Given the description of an element on the screen output the (x, y) to click on. 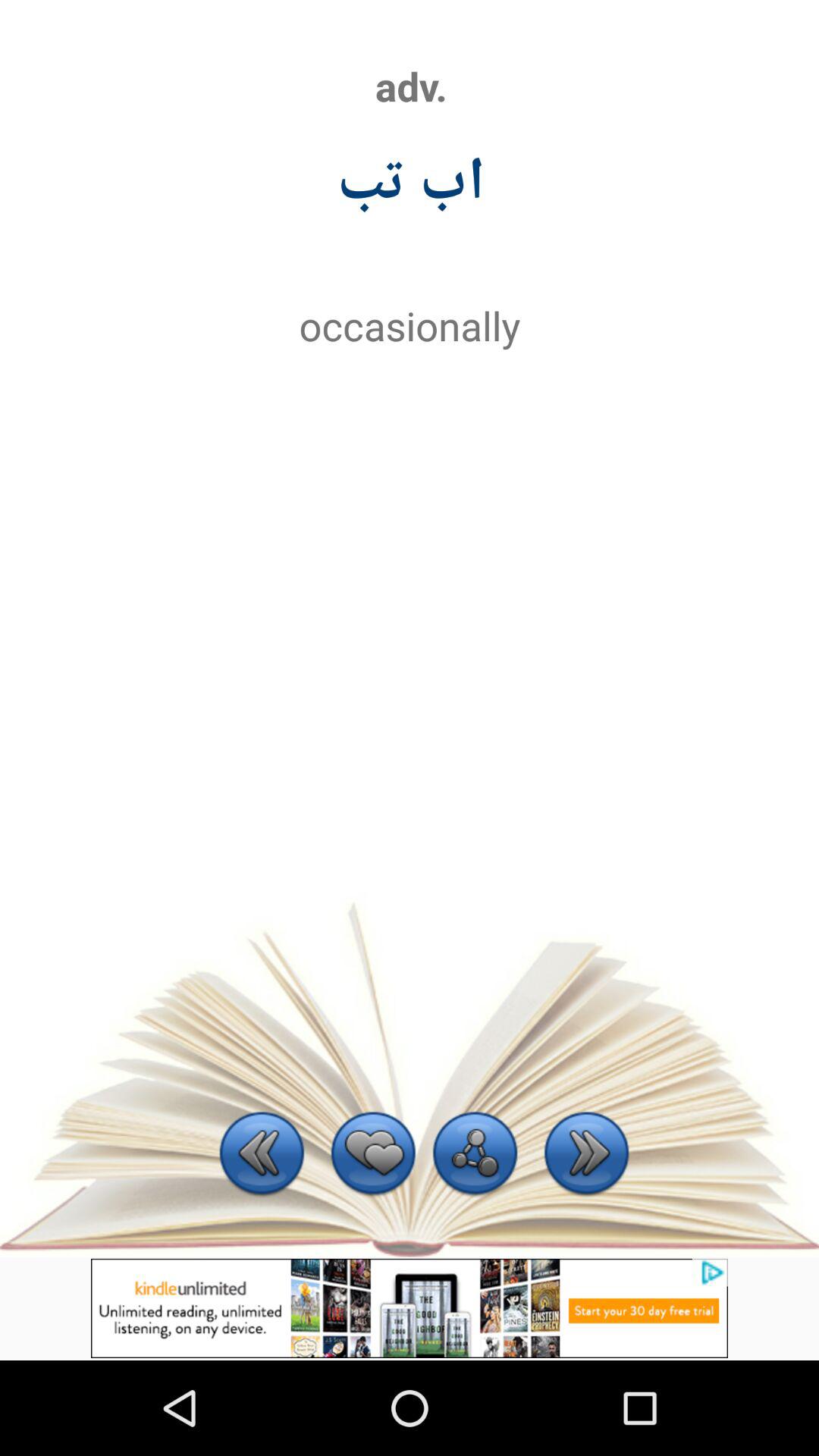
external advertisement (409, 1308)
